Given the description of an element on the screen output the (x, y) to click on. 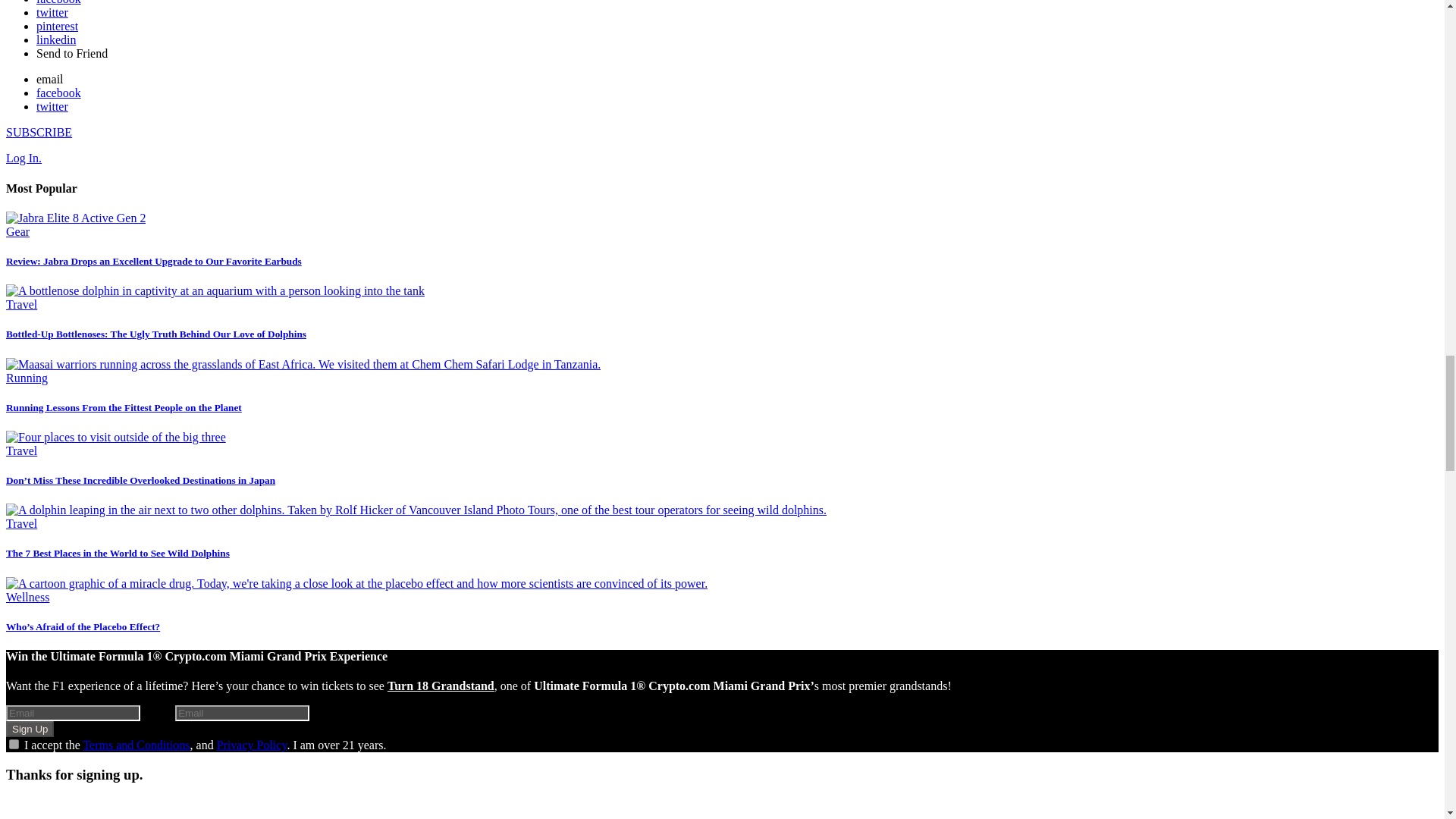
on (13, 744)
